Given the description of an element on the screen output the (x, y) to click on. 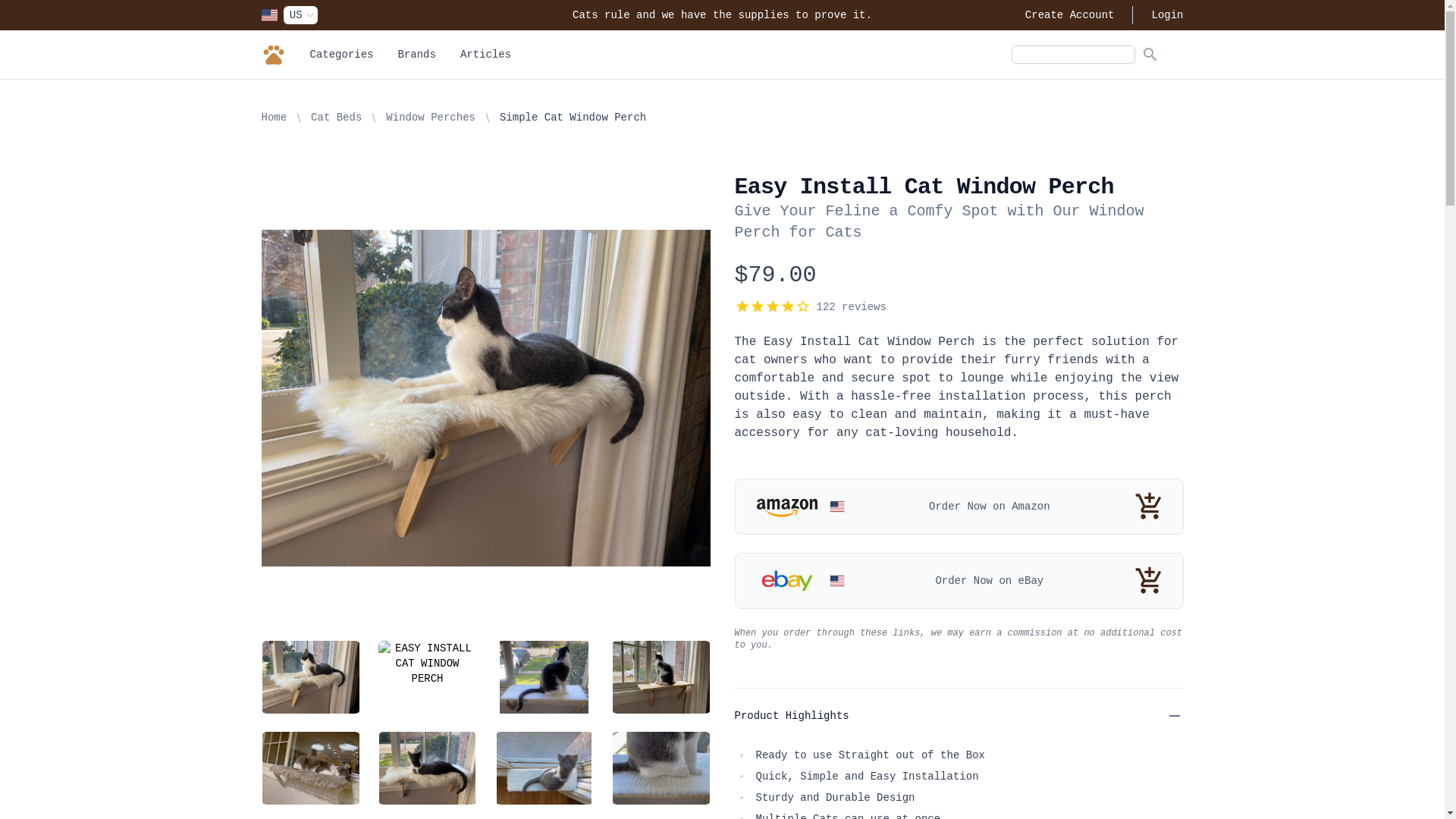
Average rating: 4.13 out of 5 stars Element type: hover (771, 306)
United States Element type: hover (268, 15)
Cat Beds Element type: text (335, 117)
Articles Element type: text (485, 54)
Home Element type: text (273, 117)
Search Element type: text (1149, 54)
Window Perches Element type: text (430, 117)
Create Account Element type: text (1069, 14)
Product Highlights Element type: text (958, 715)
Brands Element type: text (417, 54)
Online Store Element type: text (272, 54)
Order Now on Amazon Element type: text (958, 506)
Order Now on eBay Element type: text (958, 580)
Categories Element type: text (341, 54)
Login Element type: text (1167, 14)
